Given the description of an element on the screen output the (x, y) to click on. 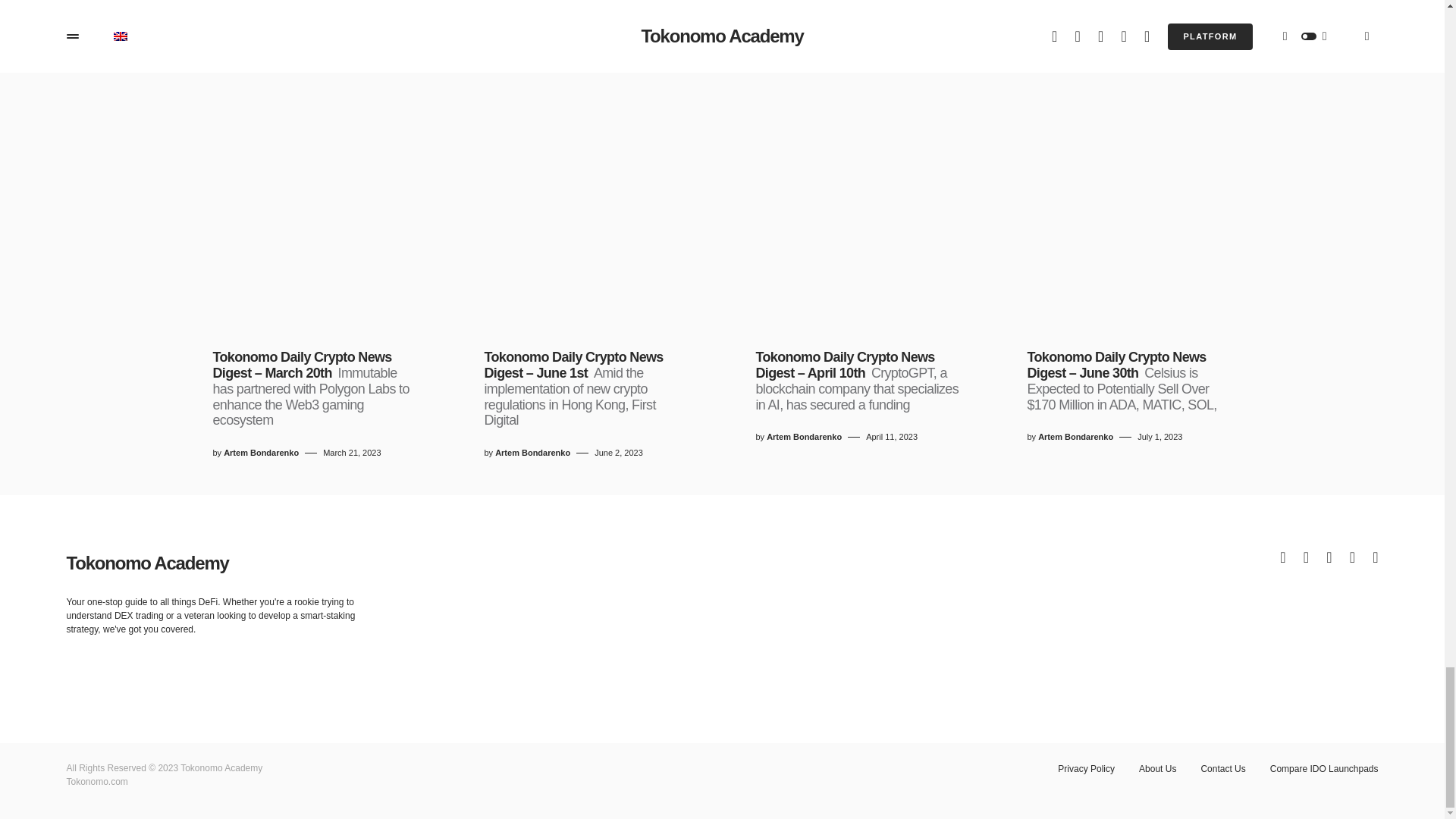
View all posts by Artem Bondarenko (261, 452)
View all posts by Artem Bondarenko (1075, 436)
View all posts by Artem Bondarenko (804, 436)
View all posts by Artem Bondarenko (532, 452)
